Given the description of an element on the screen output the (x, y) to click on. 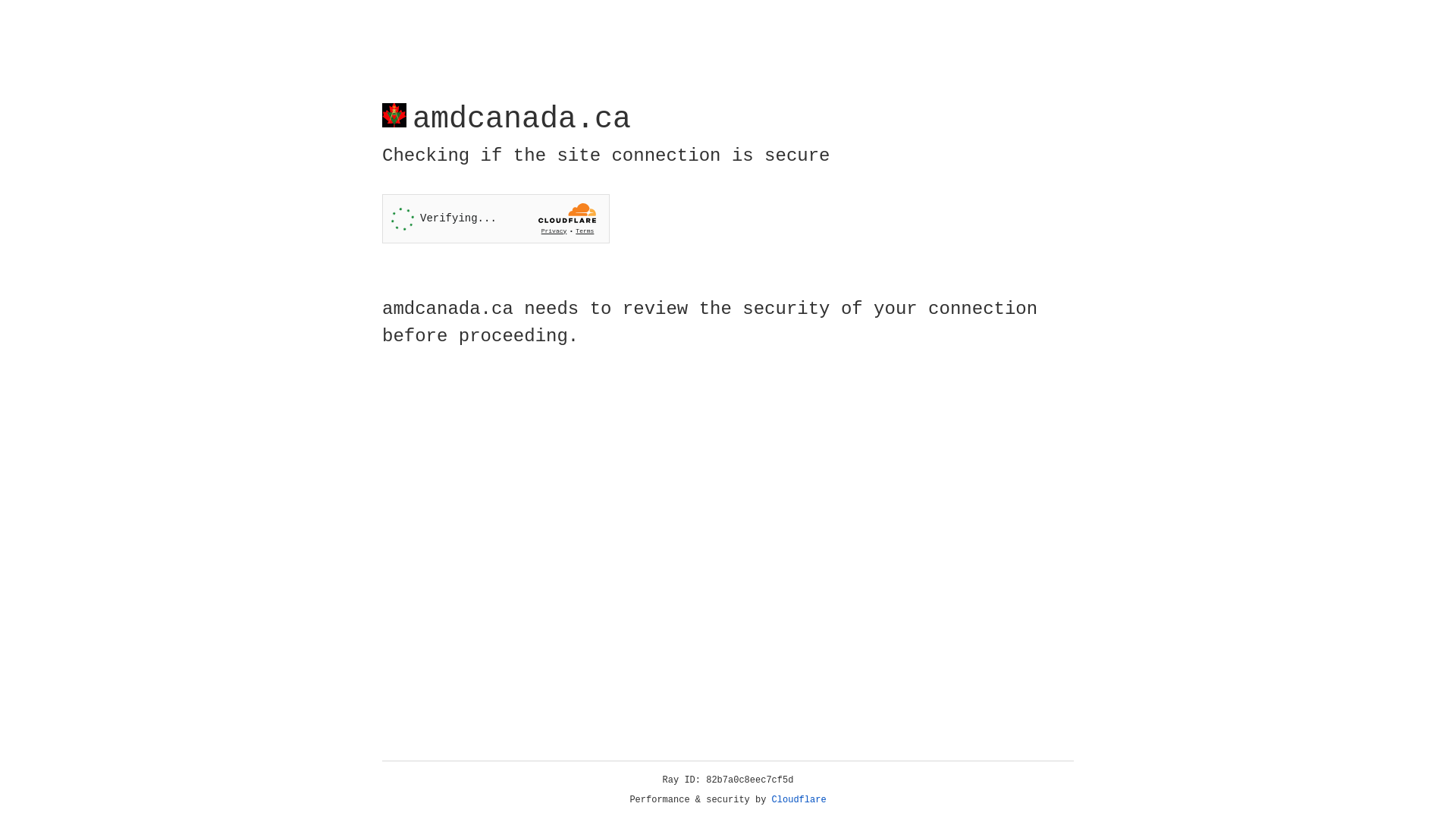
Cloudflare Element type: text (798, 799)
Widget containing a Cloudflare security challenge Element type: hover (495, 218)
